Given the description of an element on the screen output the (x, y) to click on. 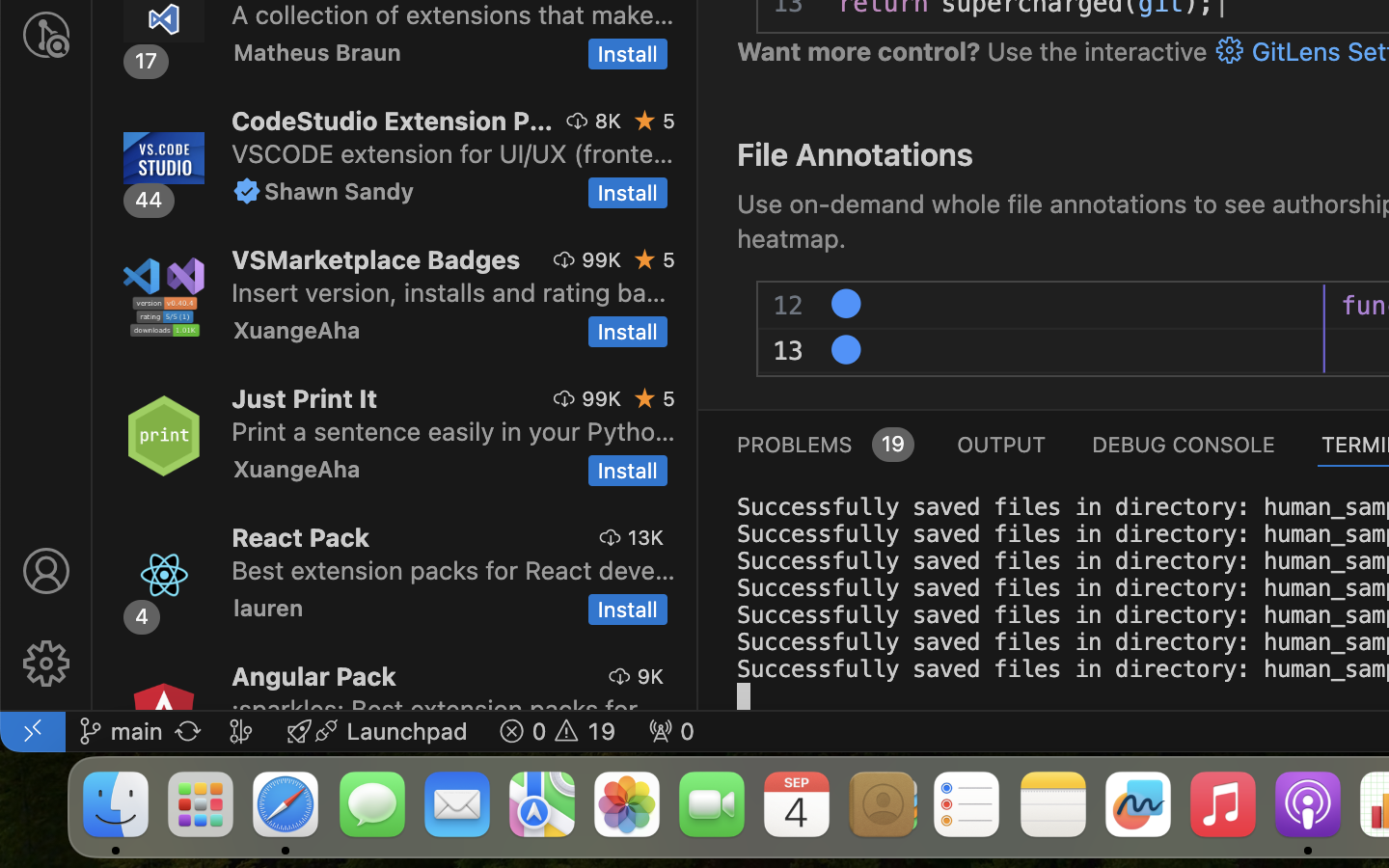
VSMarketplace Badges Element type: AXStaticText (375, 258)
0 DEBUG CONSOLE Element type: AXRadioButton (1183, 443)
Matheus Braun Element type: AXStaticText (317, 51)
React Pack Element type: AXStaticText (300, 536)
Print a sentence easily in your Python, Java, C, C++, PHP, C#, JavaScript, JavaScript JSX, TypeScript, TypeScript JSX, R, Go, Rust, Swift, Ruby, Objective-C, Objective-C++, Lua, Julia, Dart, Groovy, Visual Basic, CoffeeScript, VBScript, F#, Batch, Powershell, Perl, Perl 6, ShellScript or Clojure fil Element type: AXStaticText (453, 430)
